Given the description of an element on the screen output the (x, y) to click on. 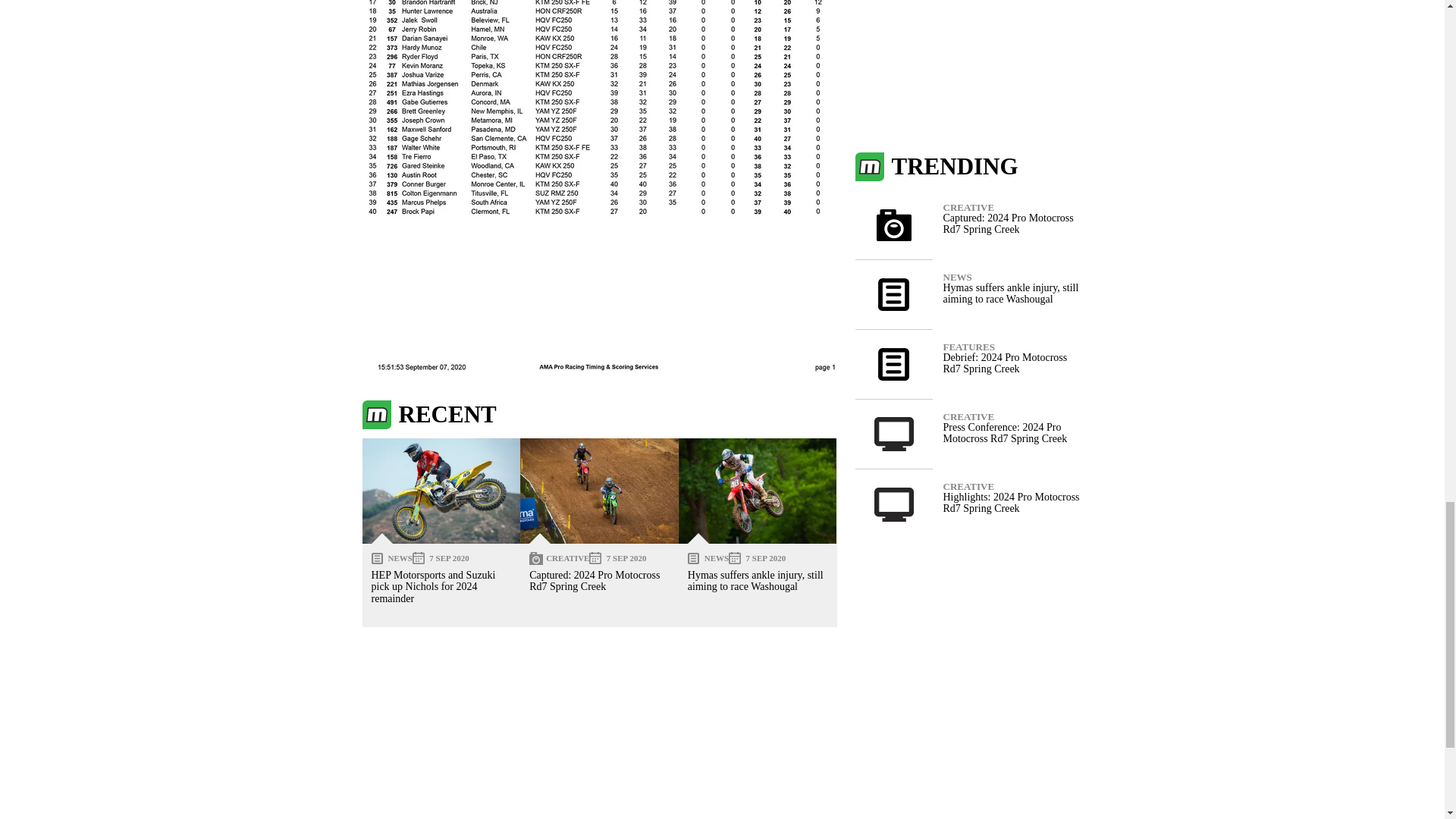
Captured: 2024 Pro Motocross Rd7 Spring Creek (598, 490)
Hymas suffers ankle injury, still aiming to race Washougal (757, 490)
